Given the description of an element on the screen output the (x, y) to click on. 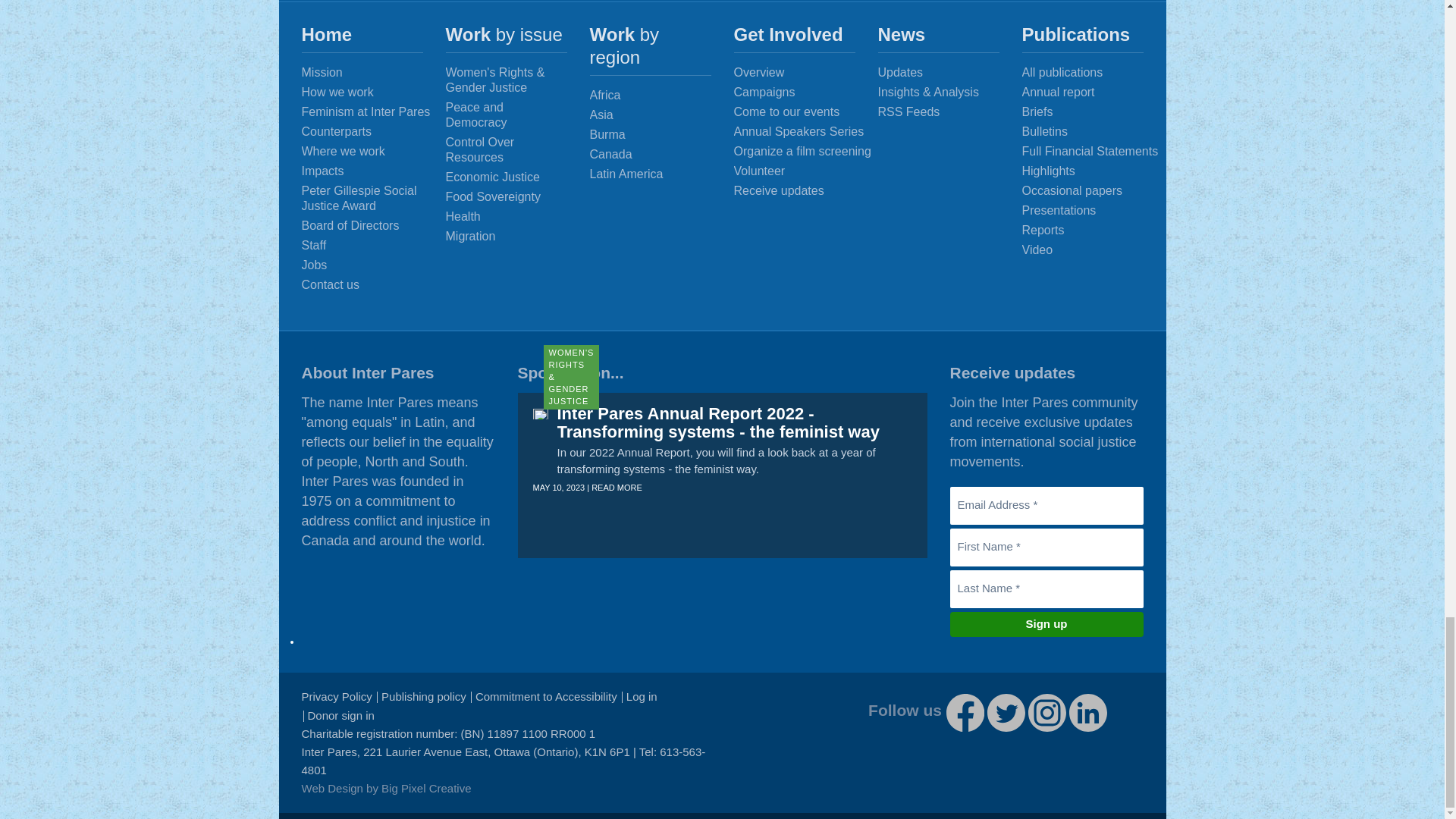
Upcoming events (806, 111)
